Given the description of an element on the screen output the (x, y) to click on. 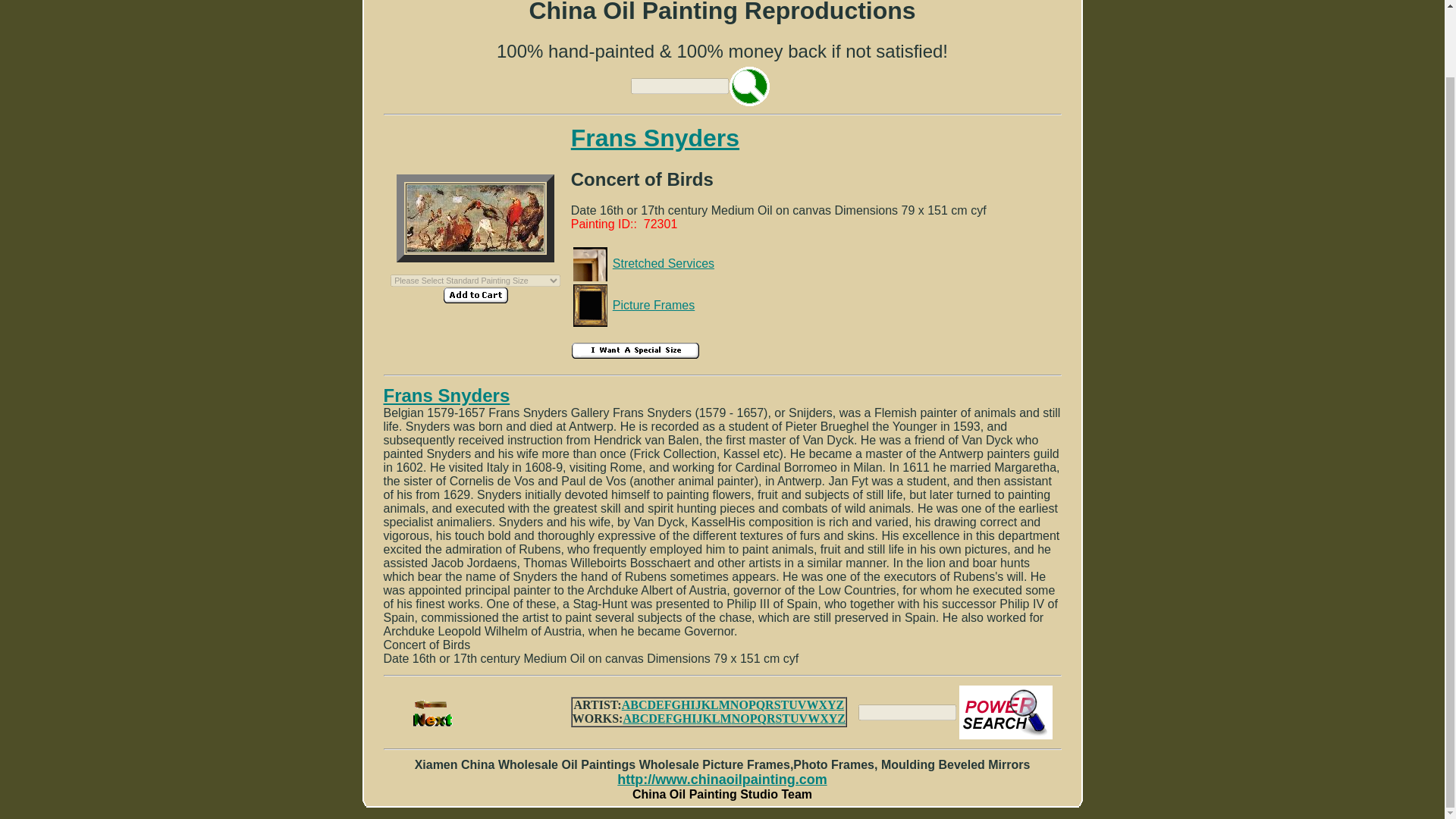
Frans Snyders (447, 394)
Frans Snyders (654, 137)
Picture Frames (653, 305)
W (812, 704)
Stretched Services (663, 263)
